Given the description of an element on the screen output the (x, y) to click on. 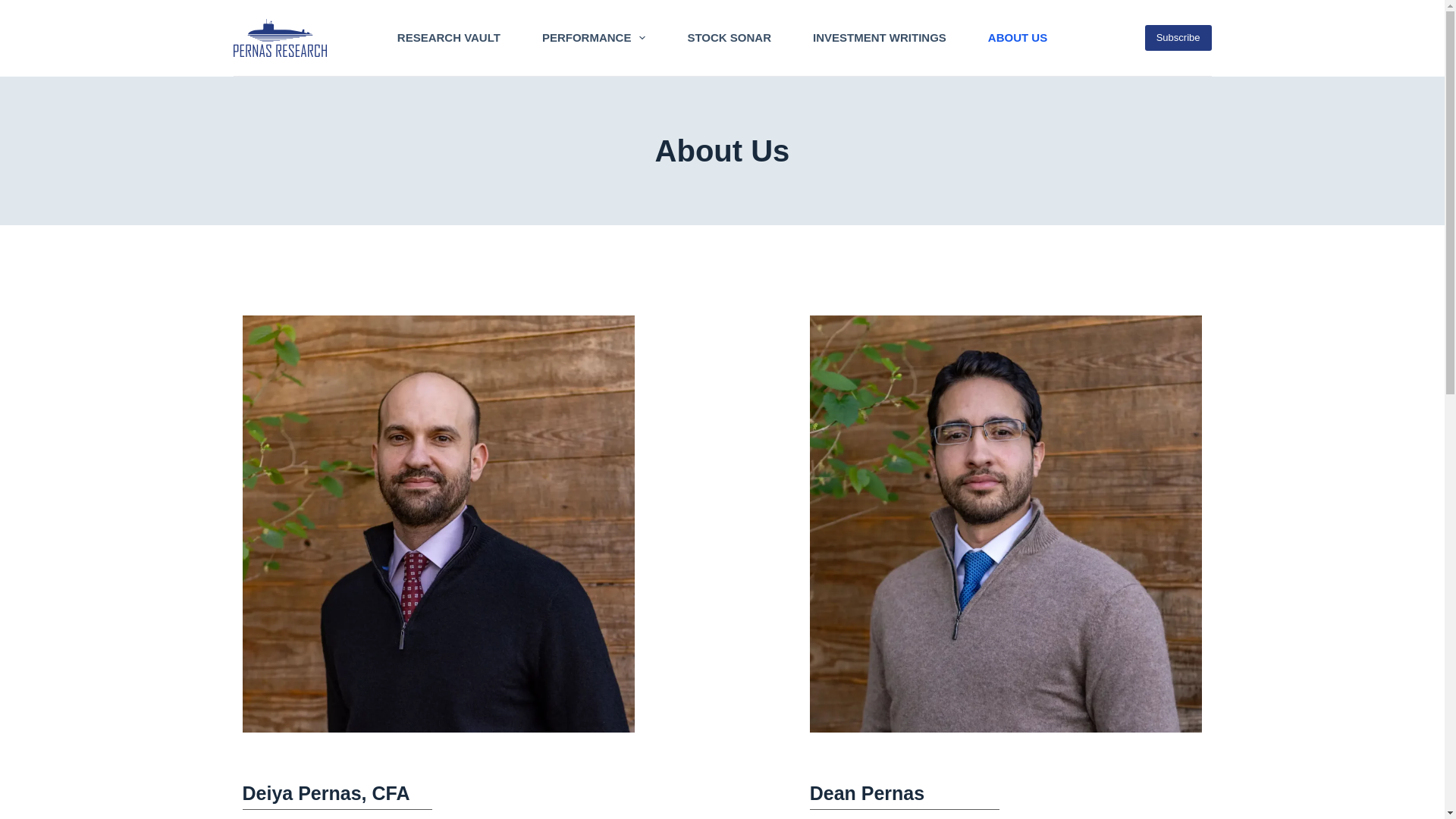
INVESTMENT WRITINGS (880, 38)
STOCK SONAR (729, 38)
Subscribe (1177, 37)
RESEARCH VAULT (448, 38)
Skip to content (15, 7)
ABOUT US (1016, 38)
PERFORMANCE (593, 38)
